Given the description of an element on the screen output the (x, y) to click on. 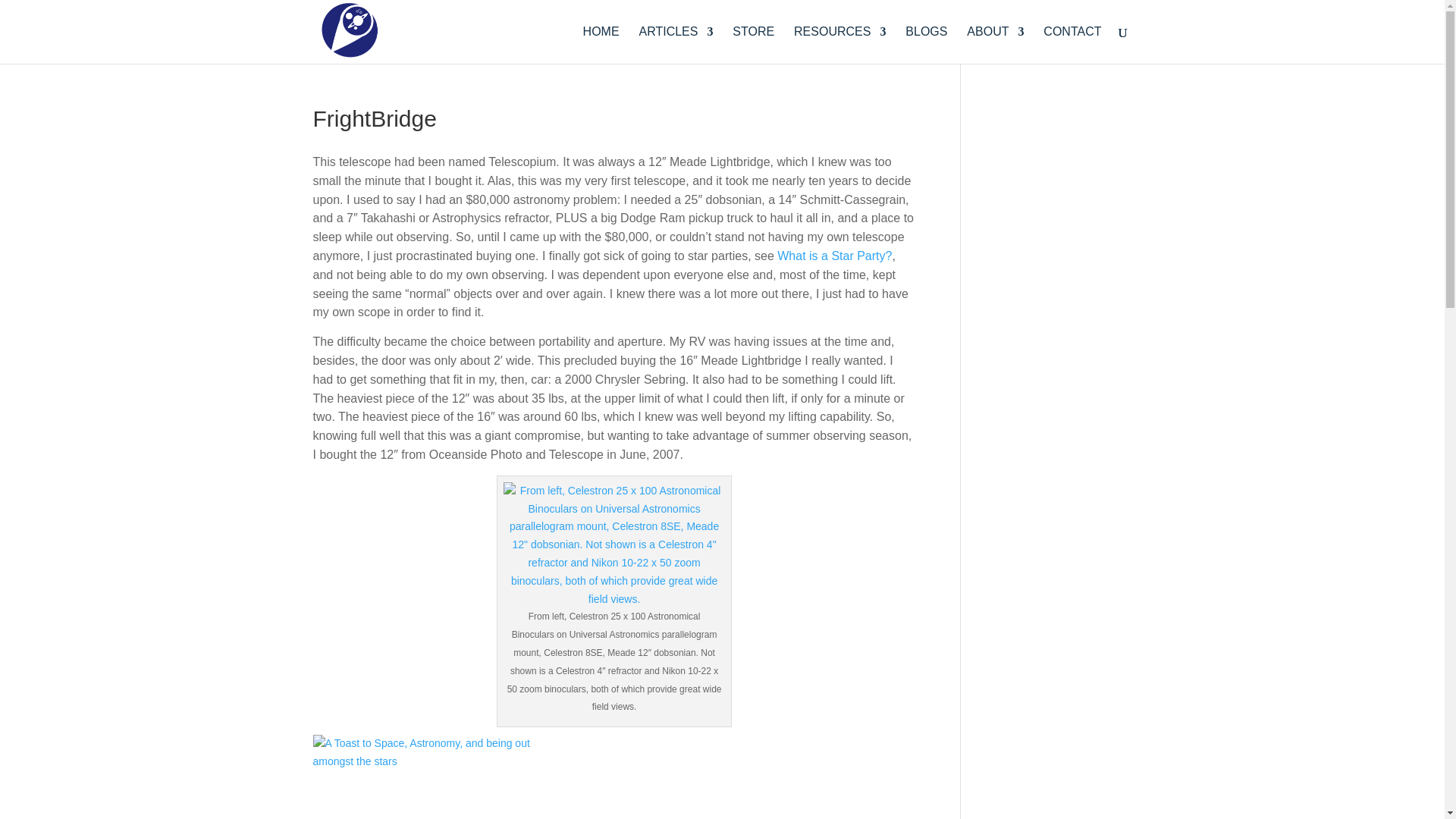
RESOURCES (839, 44)
ARTICLES (676, 44)
BLOGS (926, 44)
ABOUT (994, 44)
CONTACT (1071, 44)
HOME (601, 44)
STORE (753, 44)
